Given the description of an element on the screen output the (x, y) to click on. 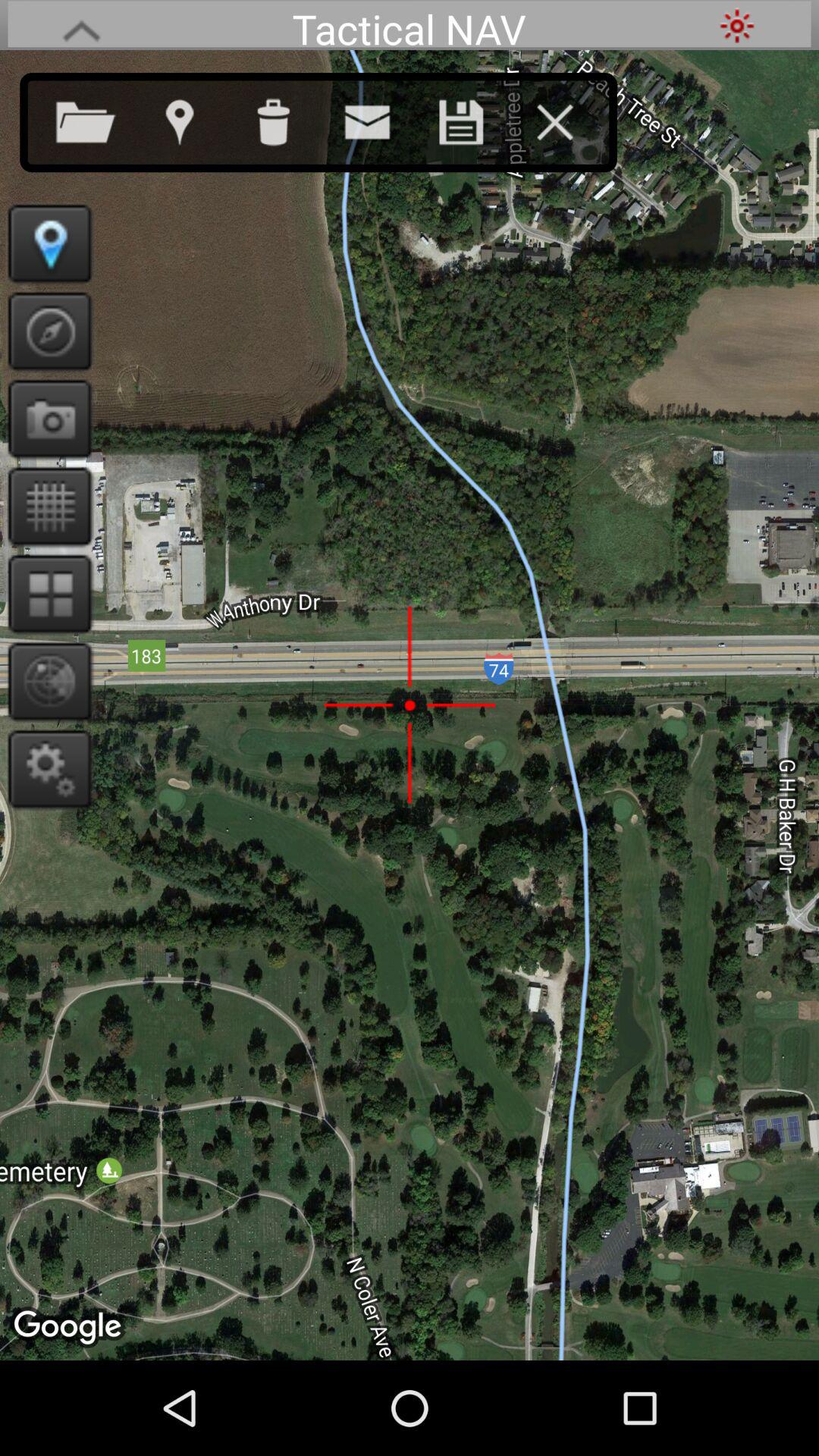
photos (45, 418)
